Given the description of an element on the screen output the (x, y) to click on. 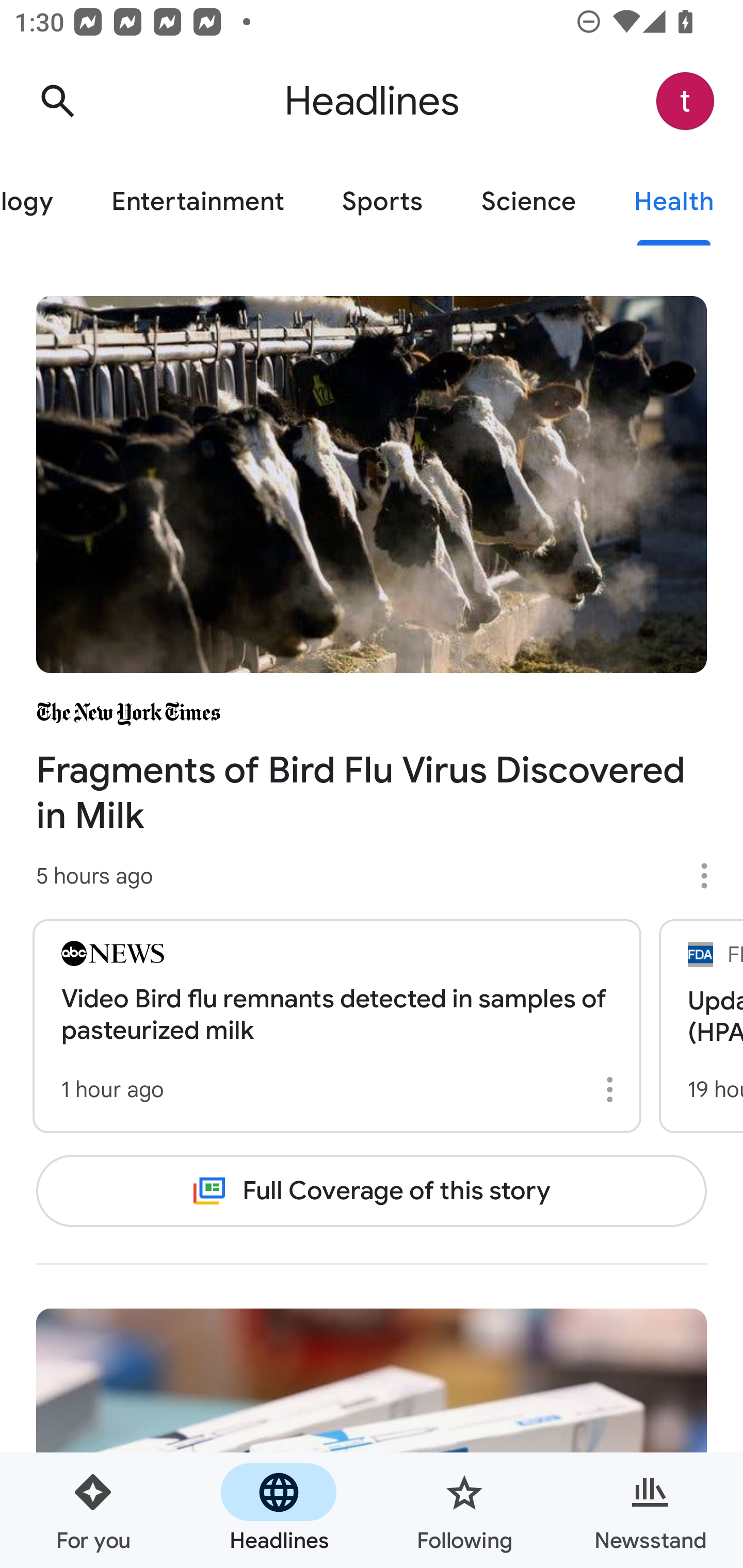
Search (57, 100)
Technology (40, 202)
Entertainment (197, 202)
Sports (382, 202)
Science (527, 202)
More options (711, 875)
More options (613, 1089)
Full Coverage of this story (371, 1191)
For you (92, 1509)
Headlines (278, 1509)
Following (464, 1509)
Newsstand (650, 1509)
